Given the description of an element on the screen output the (x, y) to click on. 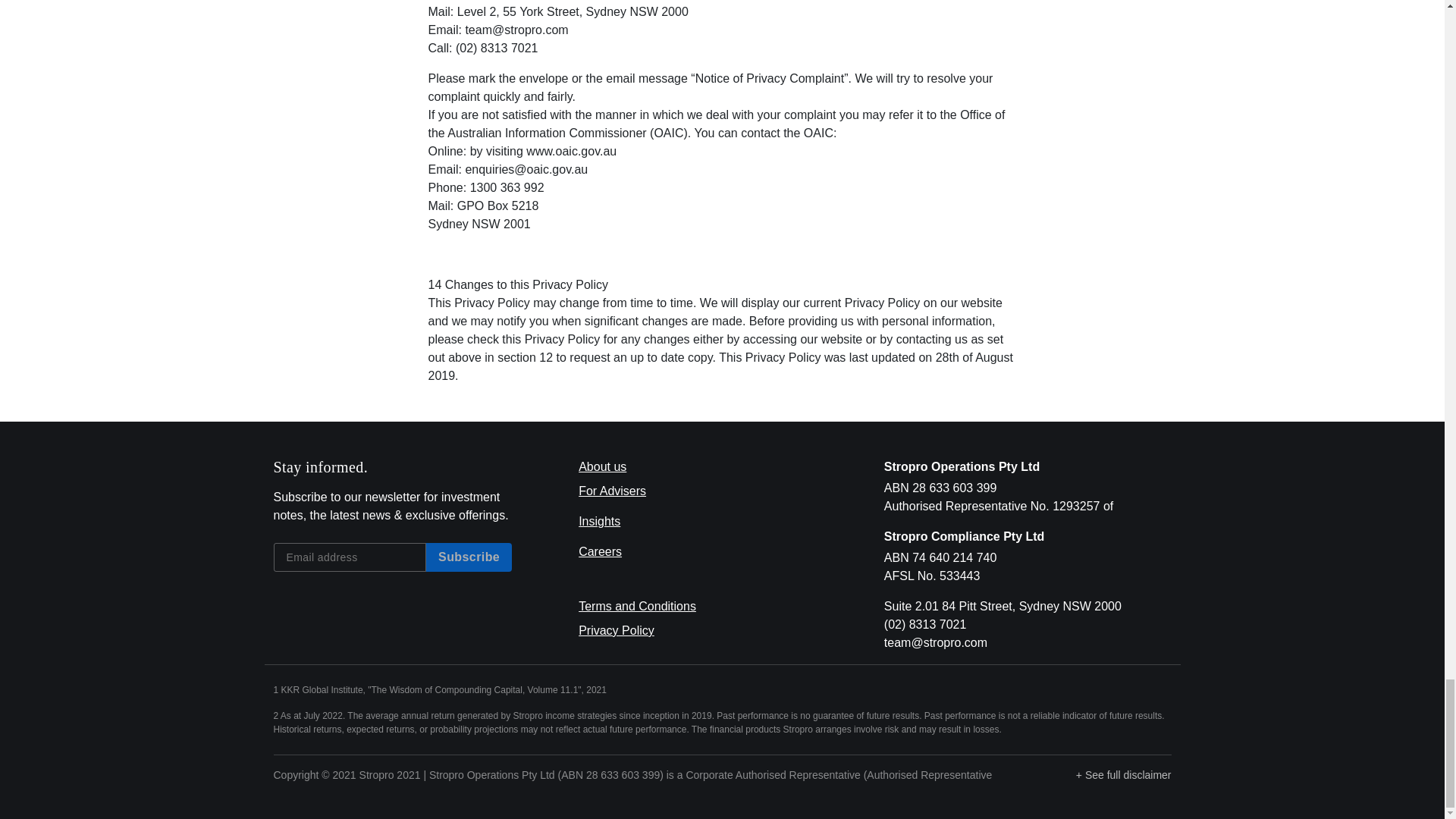
Careers (599, 551)
Terms and Conditions (636, 605)
Privacy Policy (615, 630)
Subscribe (469, 556)
Subscribe (469, 556)
About us (602, 466)
Insights (599, 521)
For Advisers (612, 490)
